Given the description of an element on the screen output the (x, y) to click on. 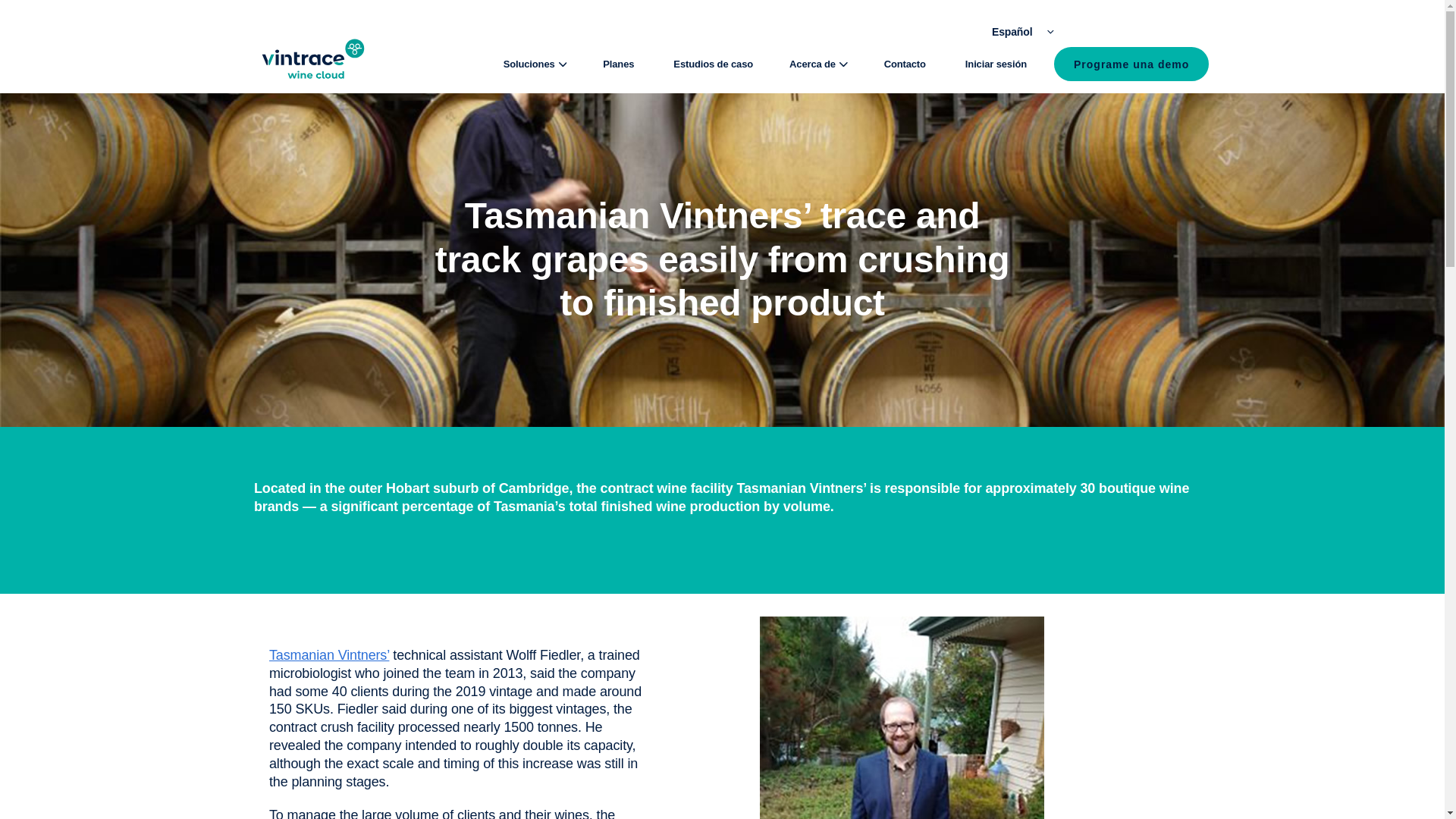
Programe una demo (1131, 63)
Estudios de caso (713, 64)
Contacto (904, 64)
Planes (618, 64)
